Given the description of an element on the screen output the (x, y) to click on. 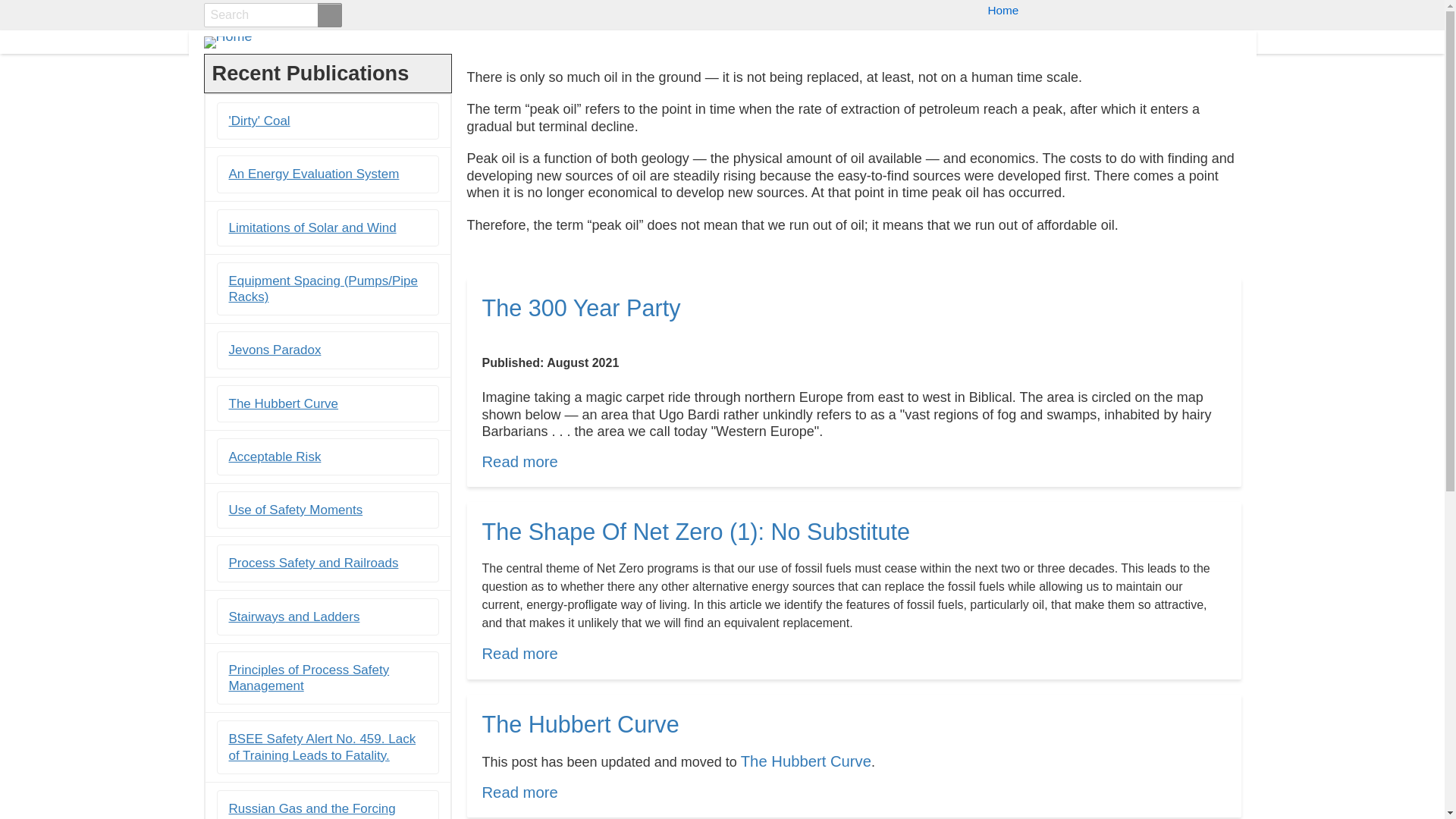
The Hubbert Curve (805, 760)
Acceptable Risk (274, 456)
Process Safety and Railroads (313, 563)
The 300 Year Party (519, 461)
Home (519, 461)
Use of Safety Moments (1002, 9)
Principles of Process Safety Management (295, 509)
Jevons Paradox (309, 677)
The Hubbert Curve (274, 350)
Home (519, 791)
An Energy Evaluation System (283, 403)
Russian Gas and the Forcing Function (263, 41)
